Given the description of an element on the screen output the (x, y) to click on. 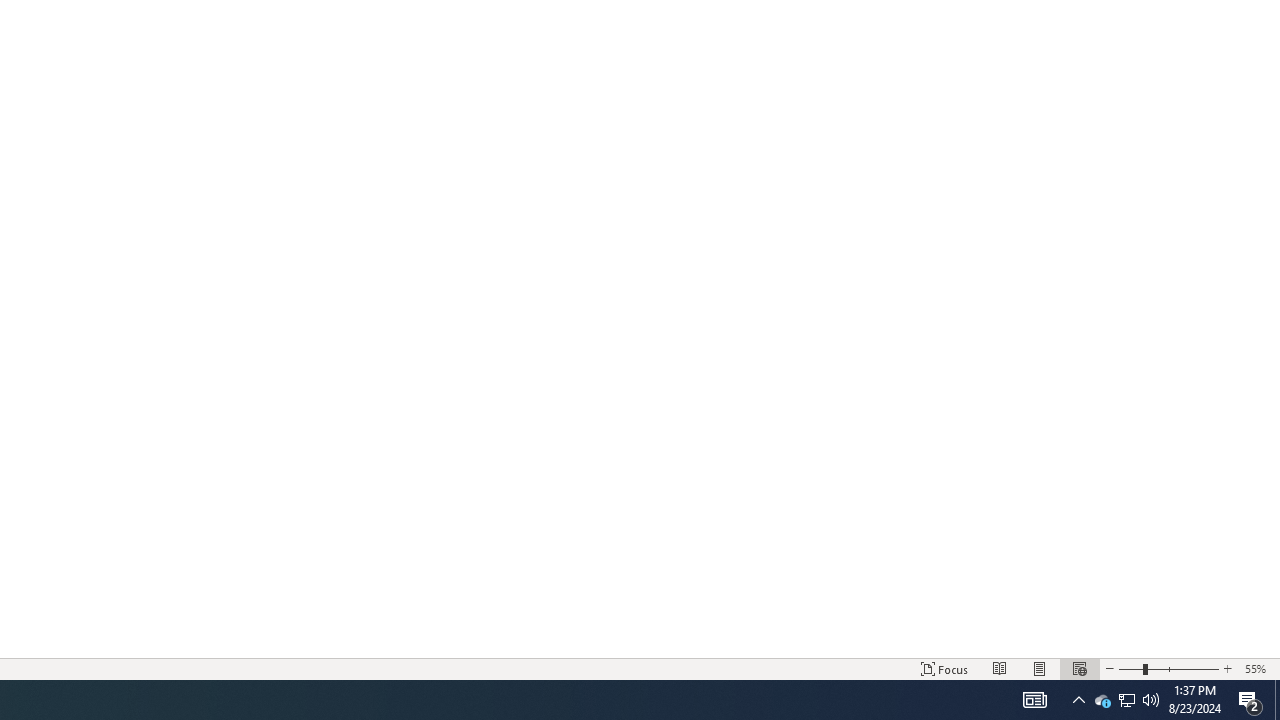
Zoom 55% (1258, 668)
